Given the description of an element on the screen output the (x, y) to click on. 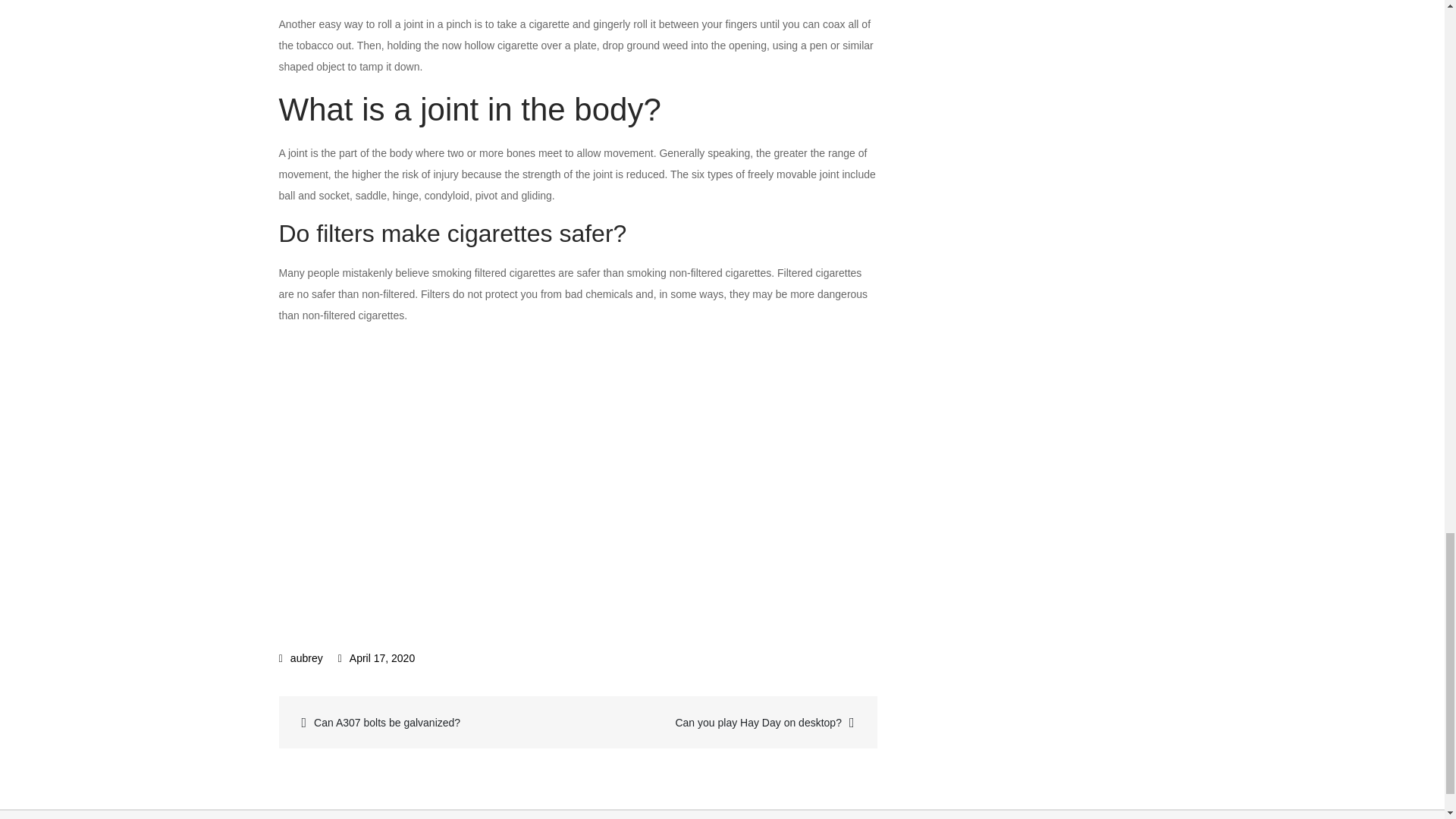
April 17, 2020 (375, 657)
Can you play Hay Day on desktop? (725, 722)
aubrey (301, 657)
How to make The 3 Best filtertips for your Joint (521, 472)
Can A307 bolts be galvanized? (430, 722)
